Given the description of an element on the screen output the (x, y) to click on. 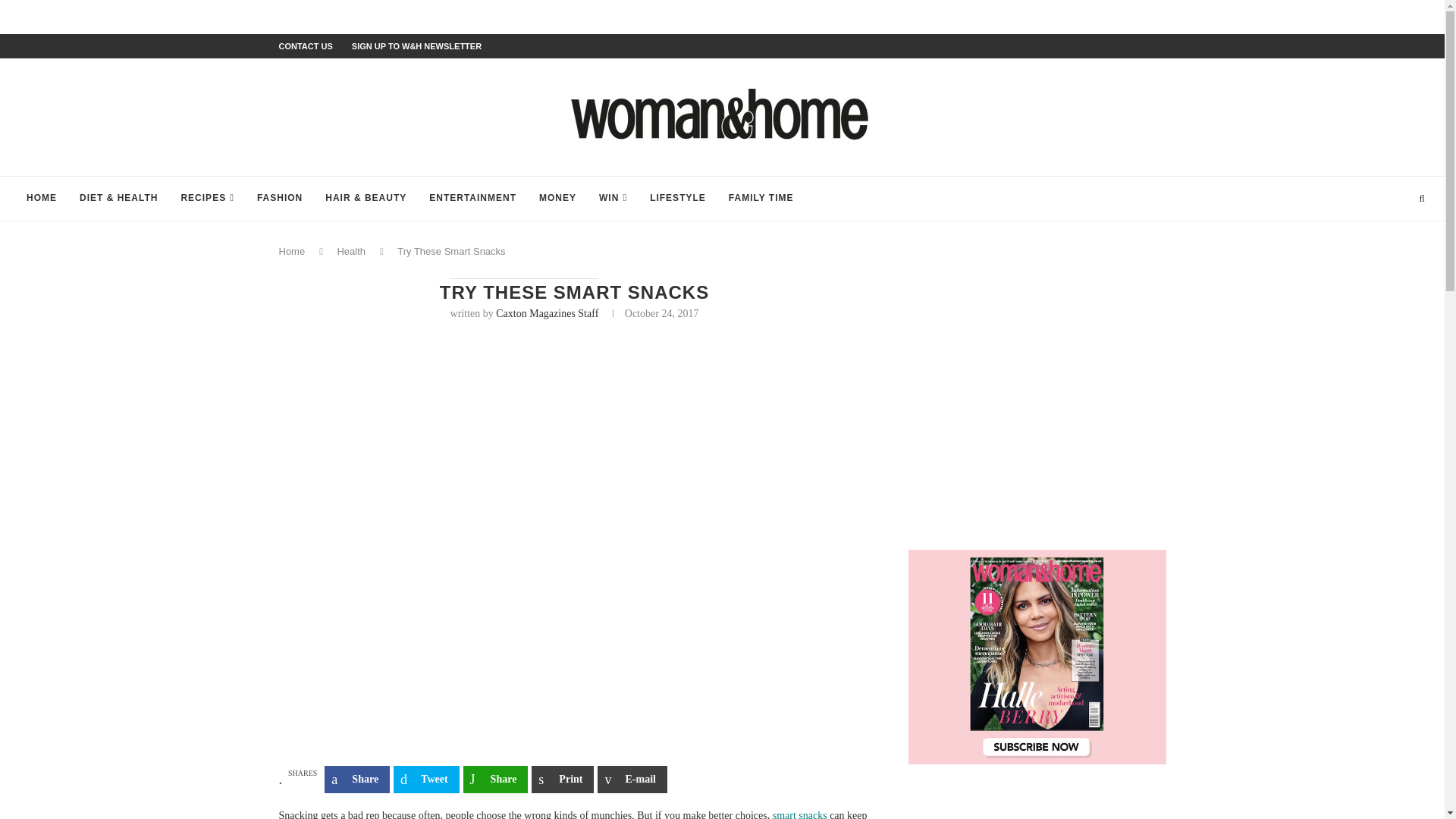
Share on Print (562, 779)
Home (292, 251)
LIFESTYLE (678, 198)
Tweet (426, 779)
Caxton Magazines Staff (547, 313)
MONEY (557, 198)
Share on Share (495, 779)
WIN (613, 198)
FASHION (280, 198)
Share on Tweet (426, 779)
Share on E-mail (631, 779)
ENTERTAINMENT (472, 198)
HOME (41, 198)
CONTACT US (306, 45)
Share (495, 779)
